Given the description of an element on the screen output the (x, y) to click on. 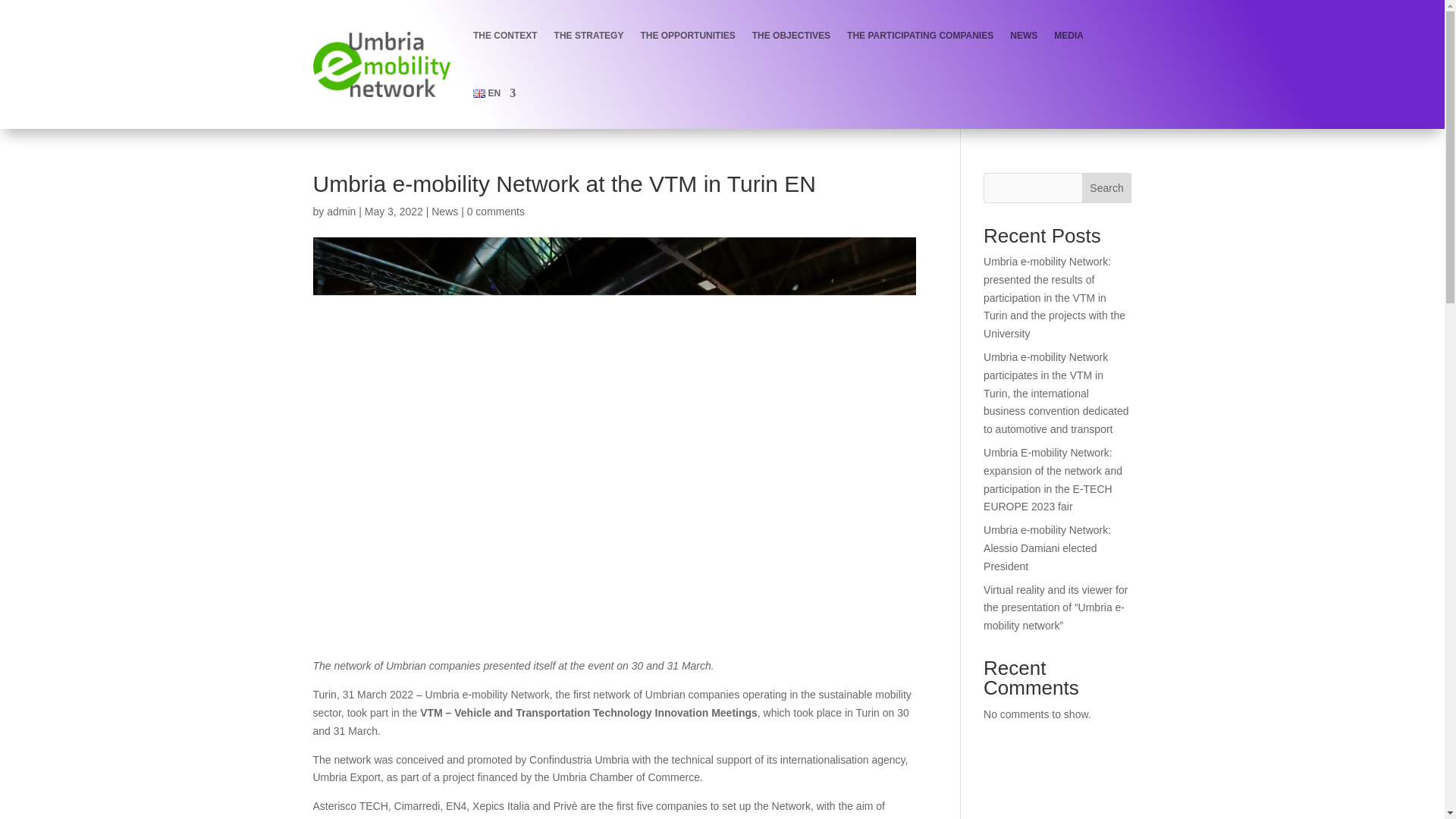
THE OPPORTUNITIES (687, 35)
admin (340, 211)
THE CONTEXT (505, 35)
THE OBJECTIVES (790, 35)
THE STRATEGY (589, 35)
Posts by admin (340, 211)
0 comments (495, 211)
